Given the description of an element on the screen output the (x, y) to click on. 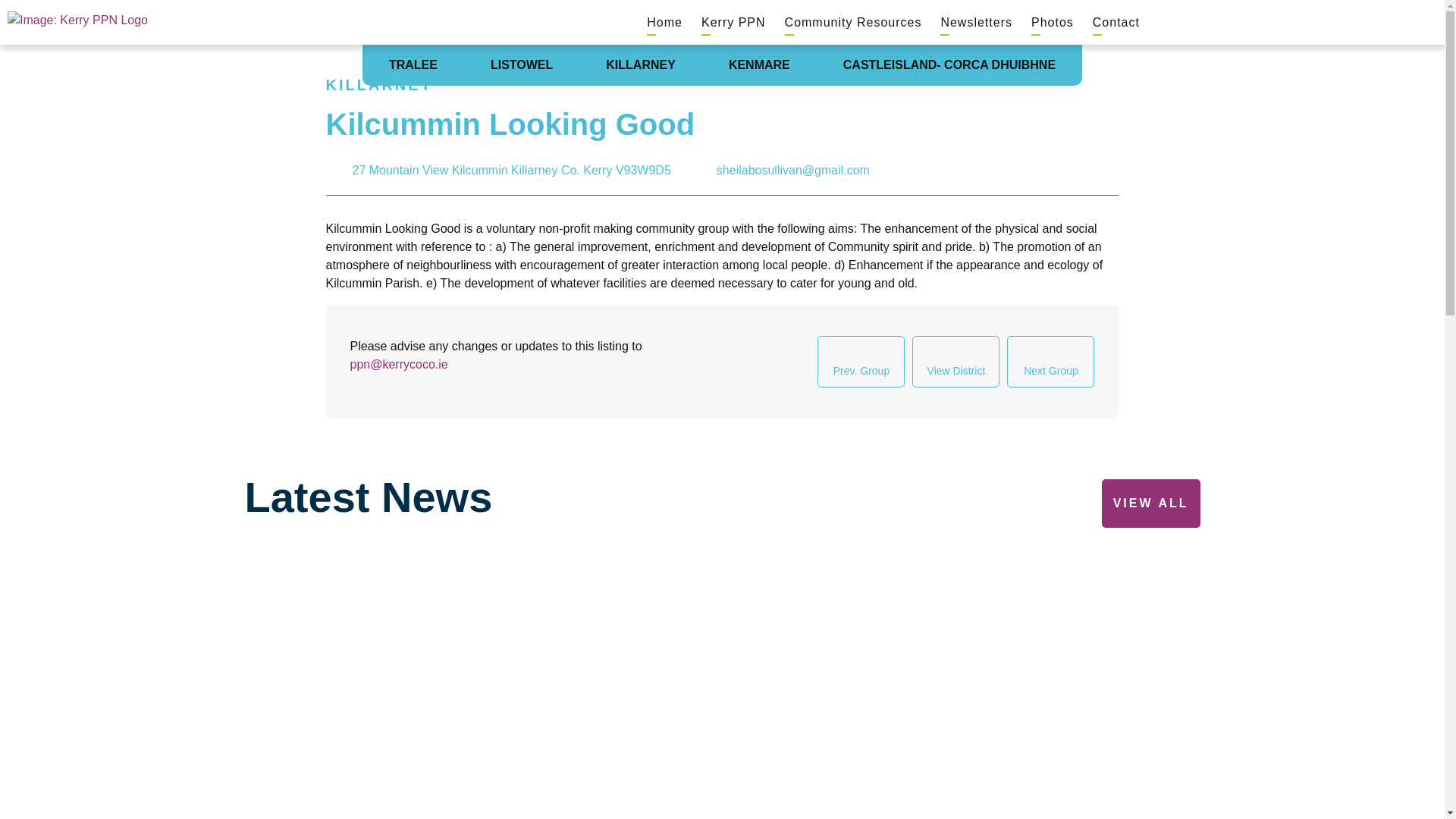
CASTLEISLAND- CORCA DHUIBHNE (948, 65)
View District (955, 361)
Photos (1052, 22)
Community Resources (852, 22)
KILLARNEY (640, 65)
KENMARE (758, 65)
VIEW ALL (1150, 503)
Newsletters (975, 22)
TRALEE (413, 65)
Kerry PPN (733, 22)
Link to email Kerry PPN (792, 170)
Contact (1116, 22)
LISTOWEL (521, 65)
27 Mountain View Kilcummin Killarney Co. Kerry V93W9D5 (510, 170)
